Given the description of an element on the screen output the (x, y) to click on. 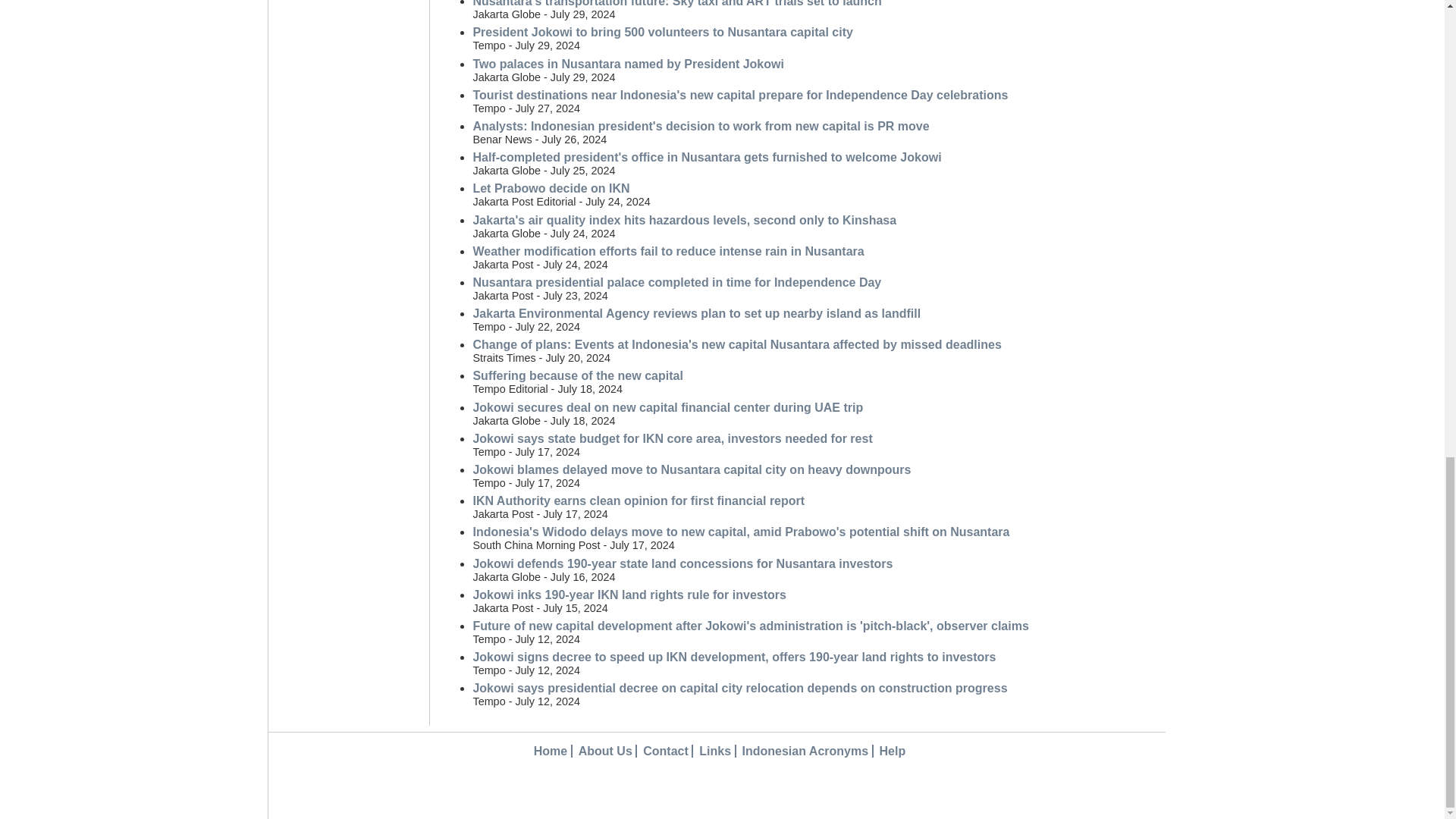
Jokowi inks 190-year IKN land rights rule for investors (628, 594)
Two palaces in Nusantara named by President Jokowi (627, 63)
Suffering because of the new capital (576, 375)
Let Prabowo decide on IKN (549, 187)
